Given the description of an element on the screen output the (x, y) to click on. 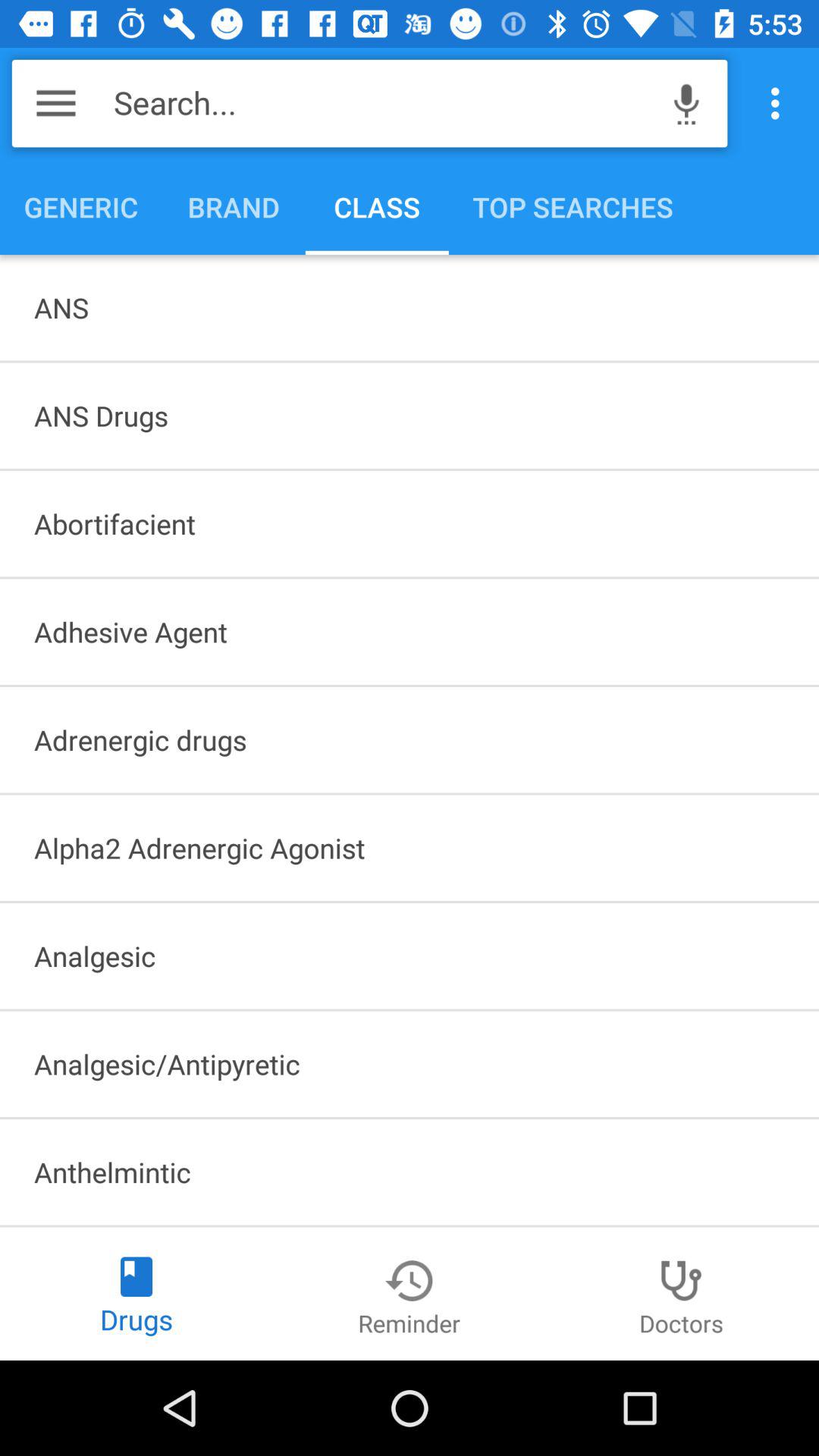
scroll to the abortifacient (409, 523)
